Given the description of an element on the screen output the (x, y) to click on. 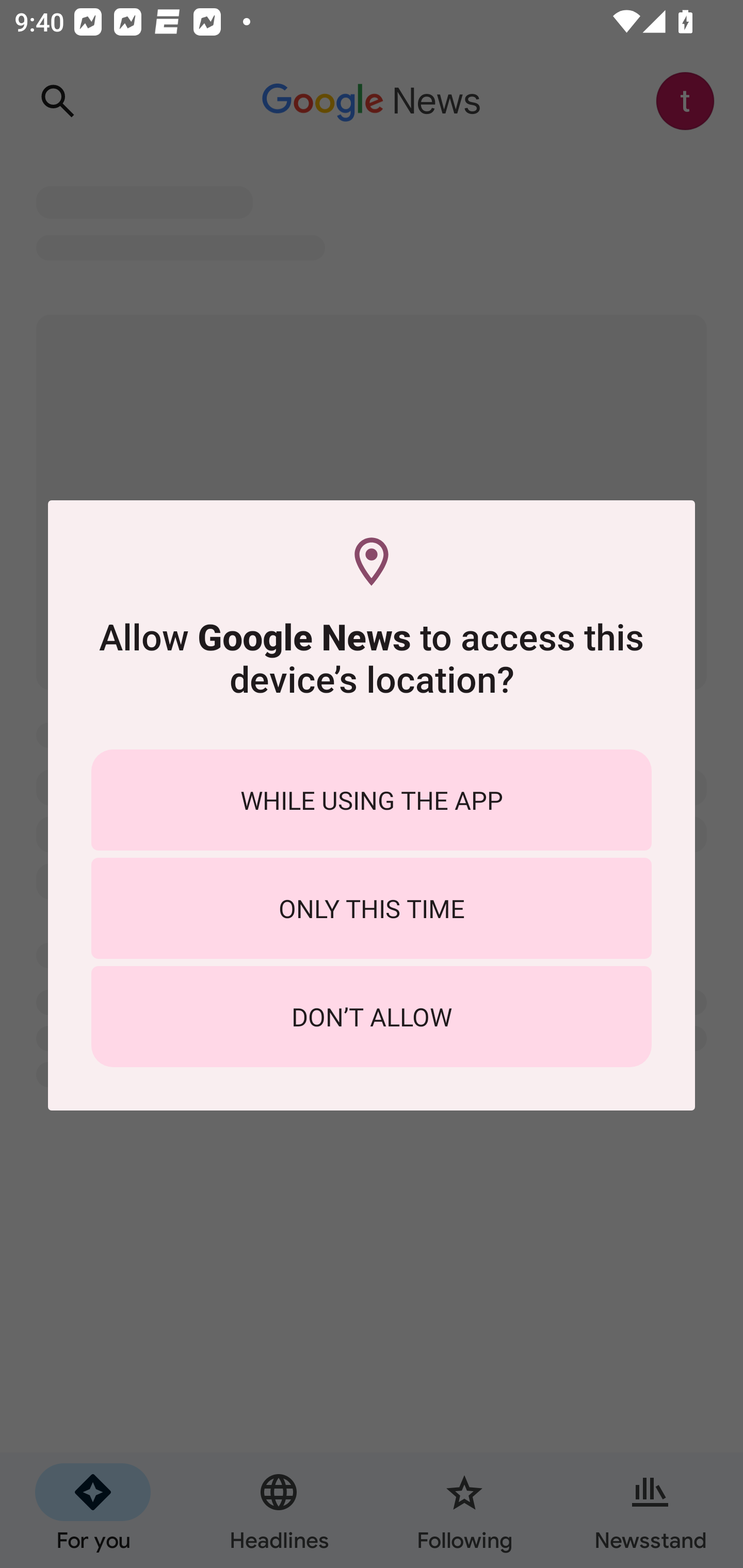
WHILE USING THE APP (371, 799)
ONLY THIS TIME (371, 908)
DON’T ALLOW (371, 1016)
